Given the description of an element on the screen output the (x, y) to click on. 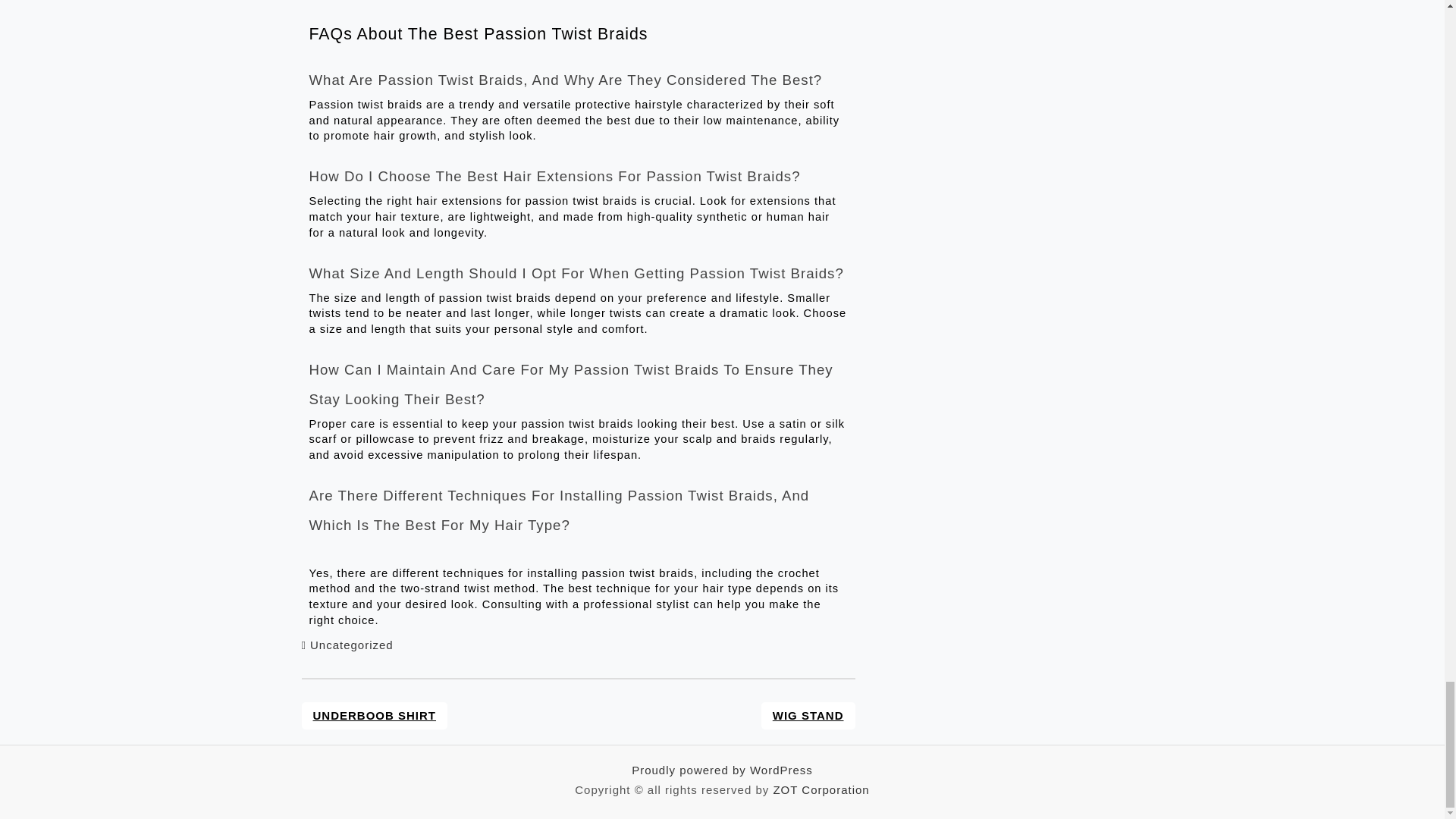
UNDERBOOB SHIRT (374, 715)
WIG STAND (808, 715)
Uncategorized (351, 644)
Proudly powered by WordPress (721, 769)
ZOT Corporation (821, 789)
